Given the description of an element on the screen output the (x, y) to click on. 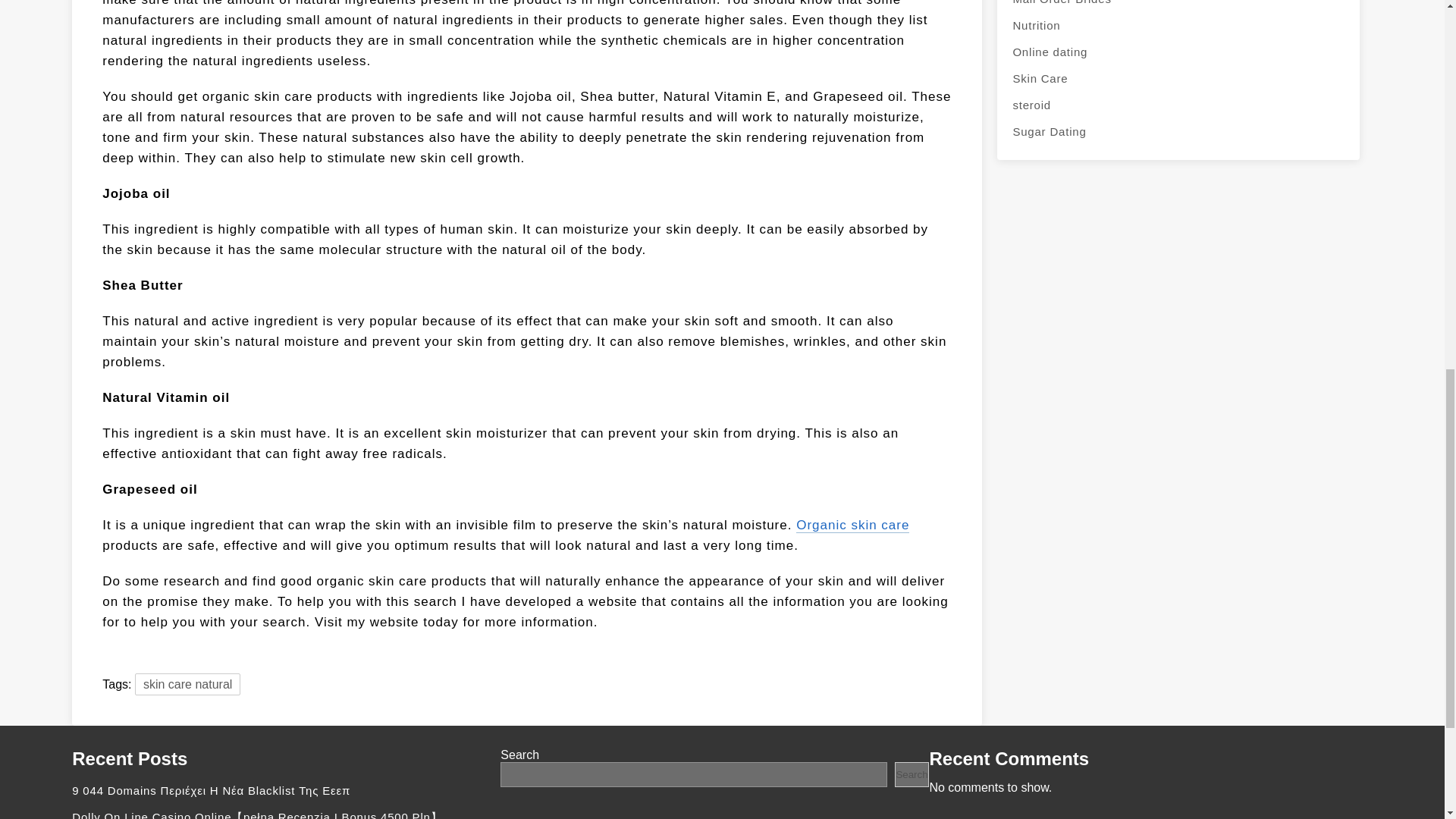
Mail Order Brides (1177, 6)
steroid (1177, 104)
Nutrition (1177, 25)
Online dating (1177, 51)
Organic skin care (852, 525)
skin care natural (187, 684)
Skin Care (1177, 78)
